Given the description of an element on the screen output the (x, y) to click on. 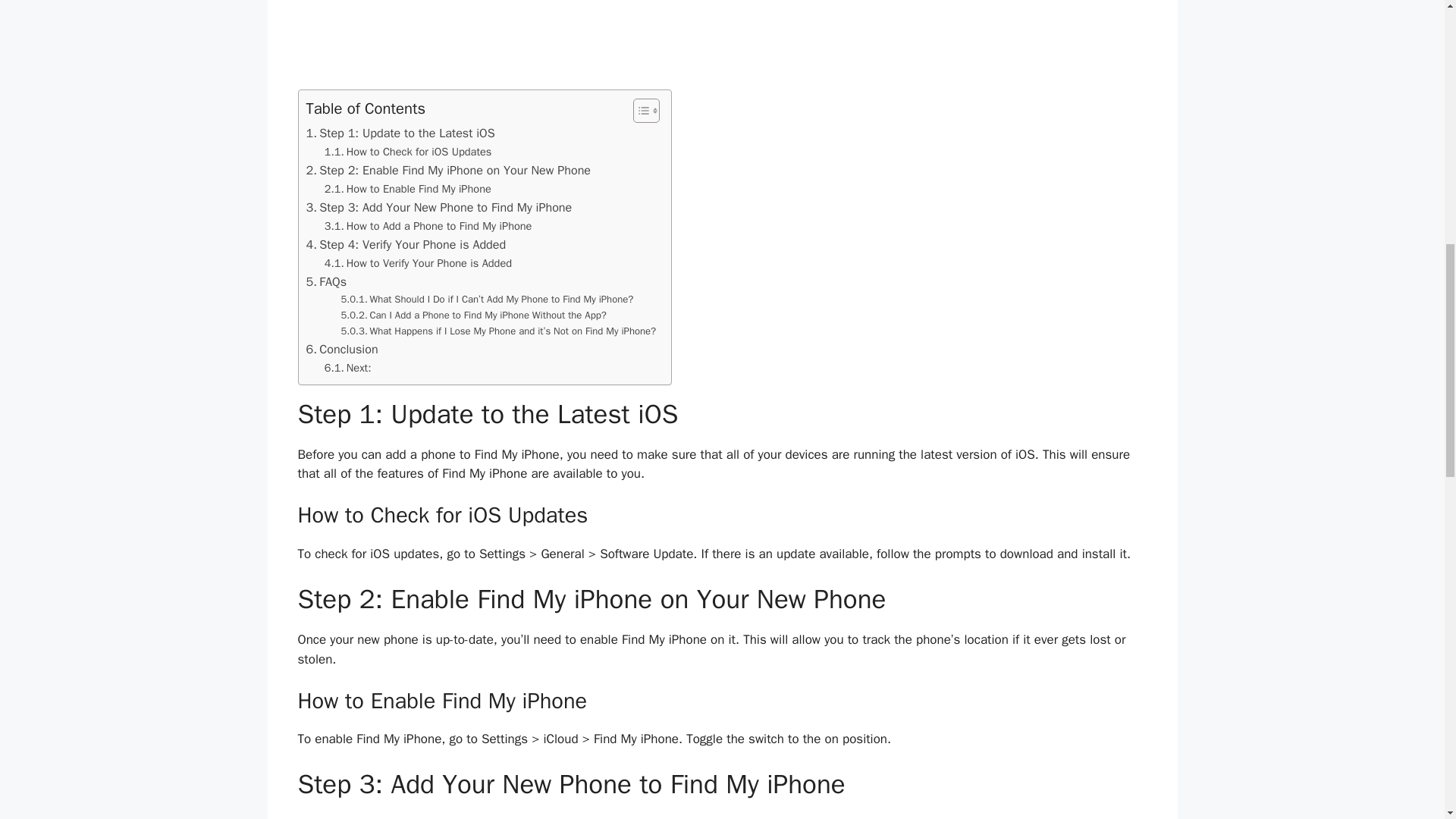
How to Add a Phone to Find My iPhone (428, 226)
Step 1: Update to the Latest iOS (400, 133)
Next: (347, 367)
How to Check for iOS Updates (408, 151)
How to Verify Your Phone is Added (418, 262)
Step 1: Update to the Latest iOS (400, 133)
How to Enable Find My iPhone (408, 189)
How to Check for iOS Updates (408, 151)
Step 4: Verify Your Phone is Added (405, 244)
Step 2: Enable Find My iPhone on Your New Phone (448, 170)
